Given the description of an element on the screen output the (x, y) to click on. 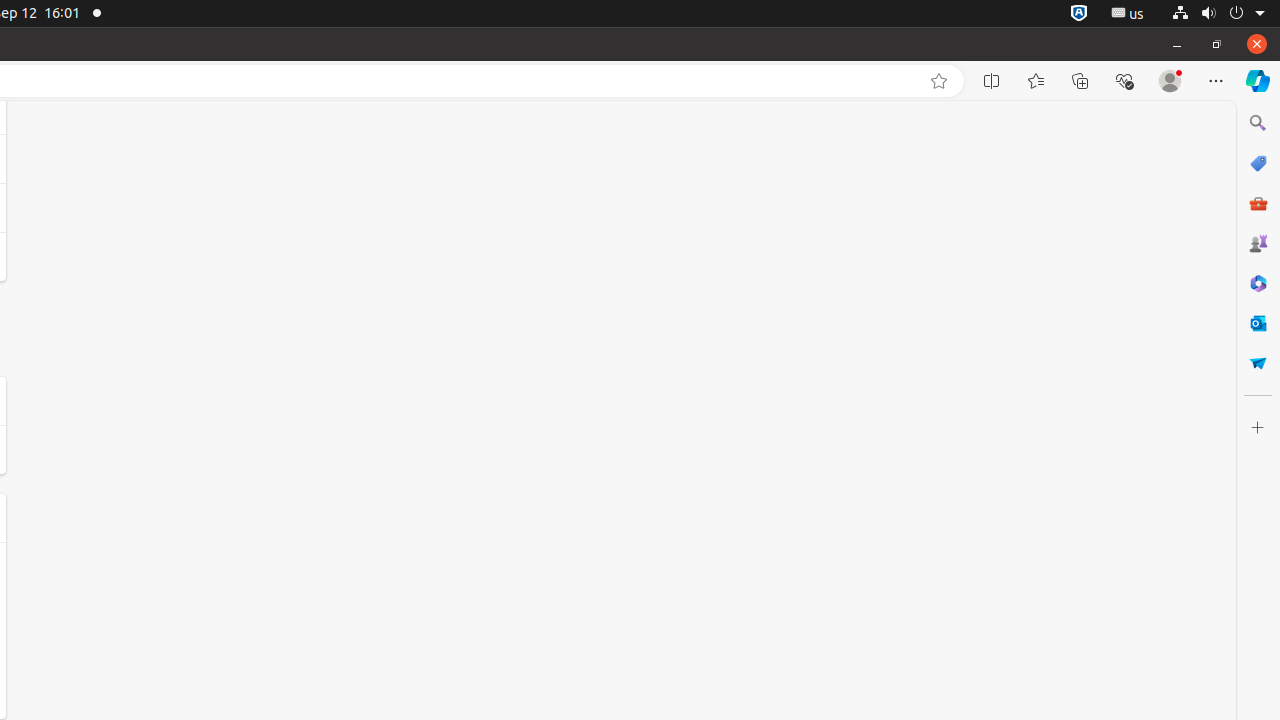
:1.21/StatusNotifierItem Element type: menu (1127, 13)
Microsoft 365 Element type: push-button (1258, 283)
Customize Element type: push-button (1258, 428)
Drop Element type: push-button (1258, 363)
Add this page to favorites (Ctrl+D) Element type: push-button (939, 81)
